Given the description of an element on the screen output the (x, y) to click on. 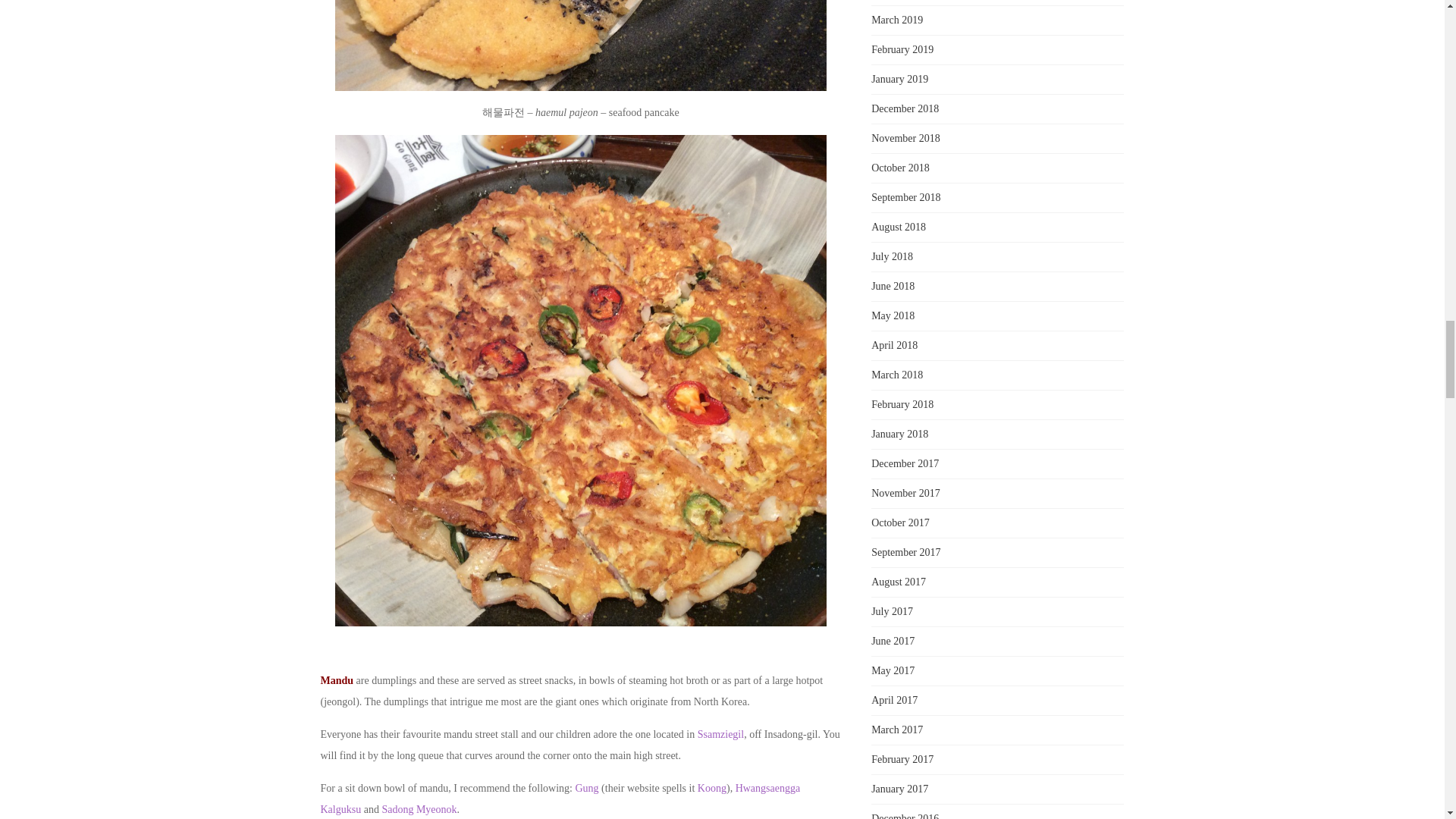
Sadong Myeonok (419, 808)
Koong (711, 787)
Ssamziegil (720, 734)
Hwangsaengga Kalguksu (559, 798)
Gung (586, 787)
